Given the description of an element on the screen output the (x, y) to click on. 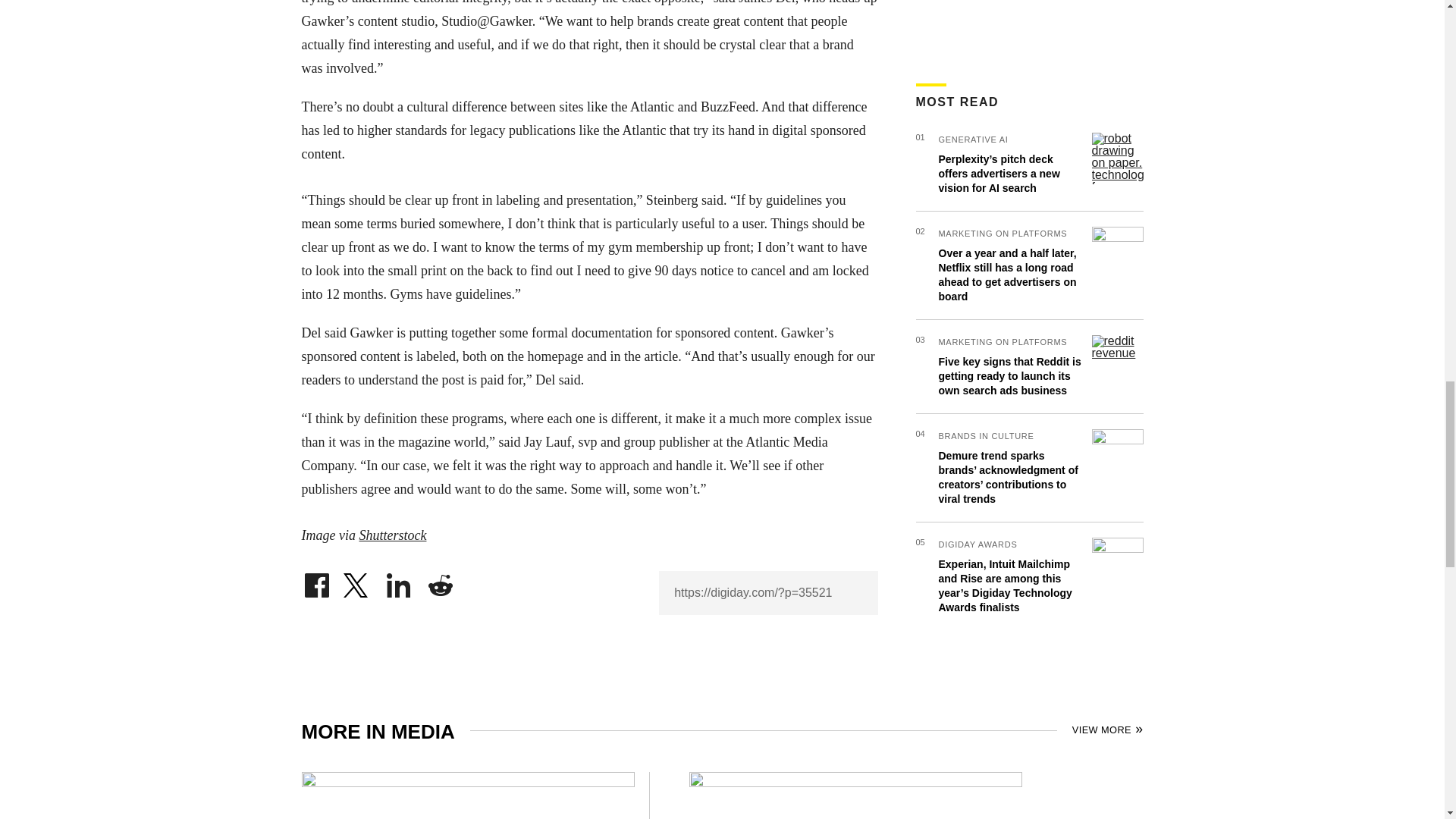
Share on Twitter (357, 581)
Share on LinkedIn (398, 581)
Share on Facebook (316, 581)
Share on Reddit (440, 581)
